Given the description of an element on the screen output the (x, y) to click on. 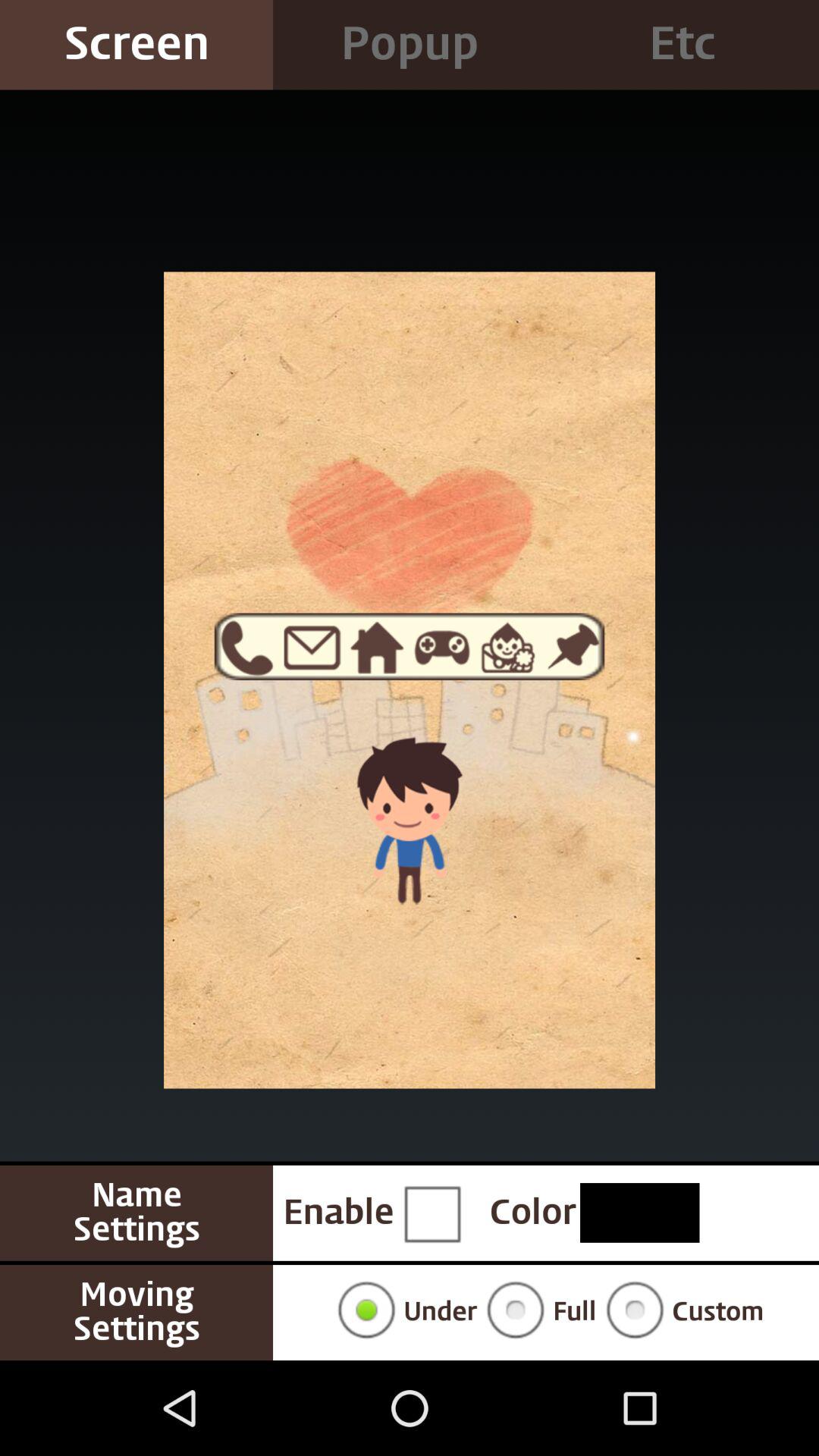
enable toggle button (431, 1212)
